Given the description of an element on the screen output the (x, y) to click on. 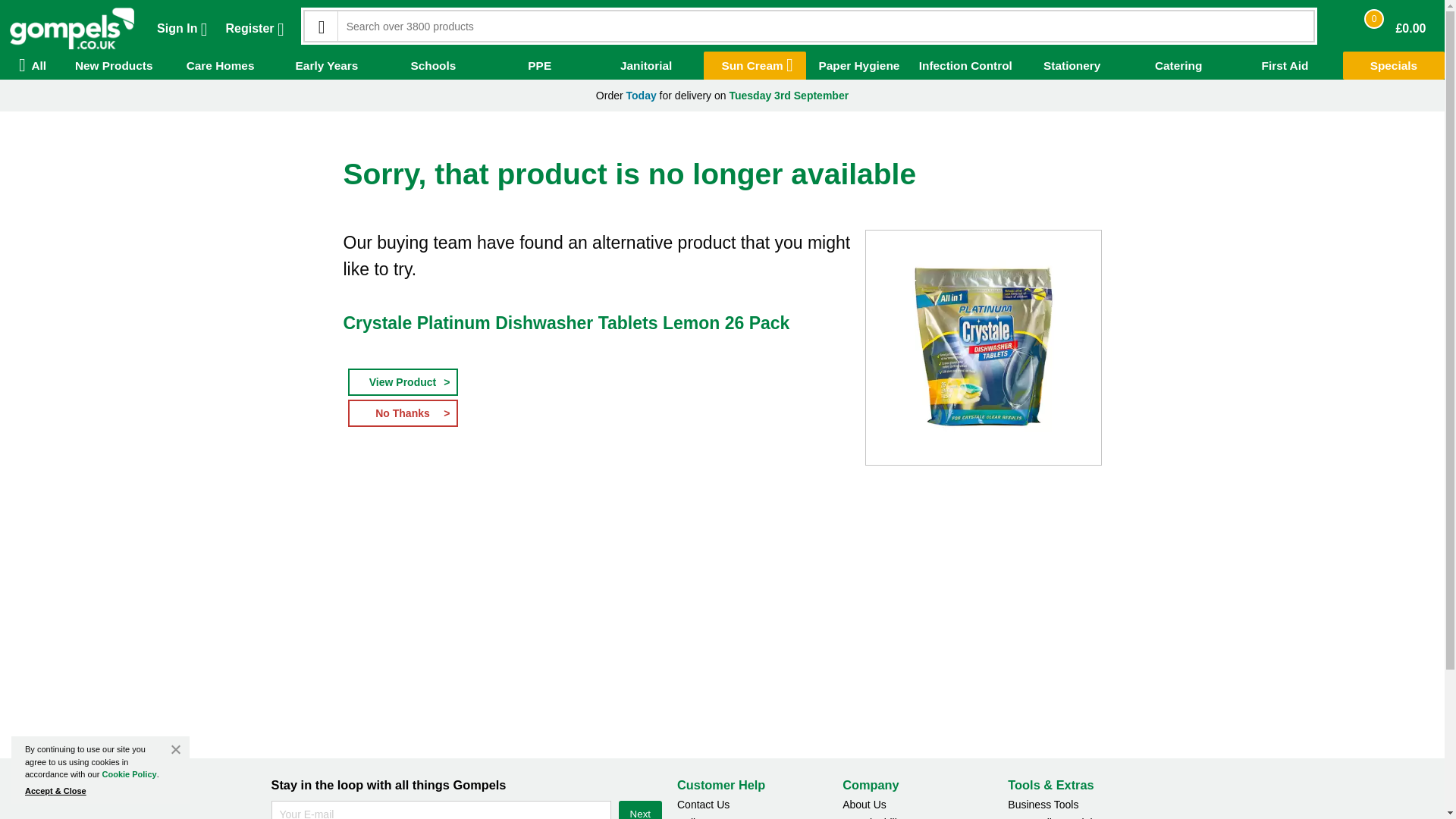
Janitorial (645, 65)
Stationery (1072, 65)
Catering (1178, 65)
0 Items (1374, 18)
Care Homes (220, 65)
Early Years (326, 65)
PPE (539, 65)
Infection Control (964, 65)
Schools (433, 65)
New Products (114, 65)
